Given the description of an element on the screen output the (x, y) to click on. 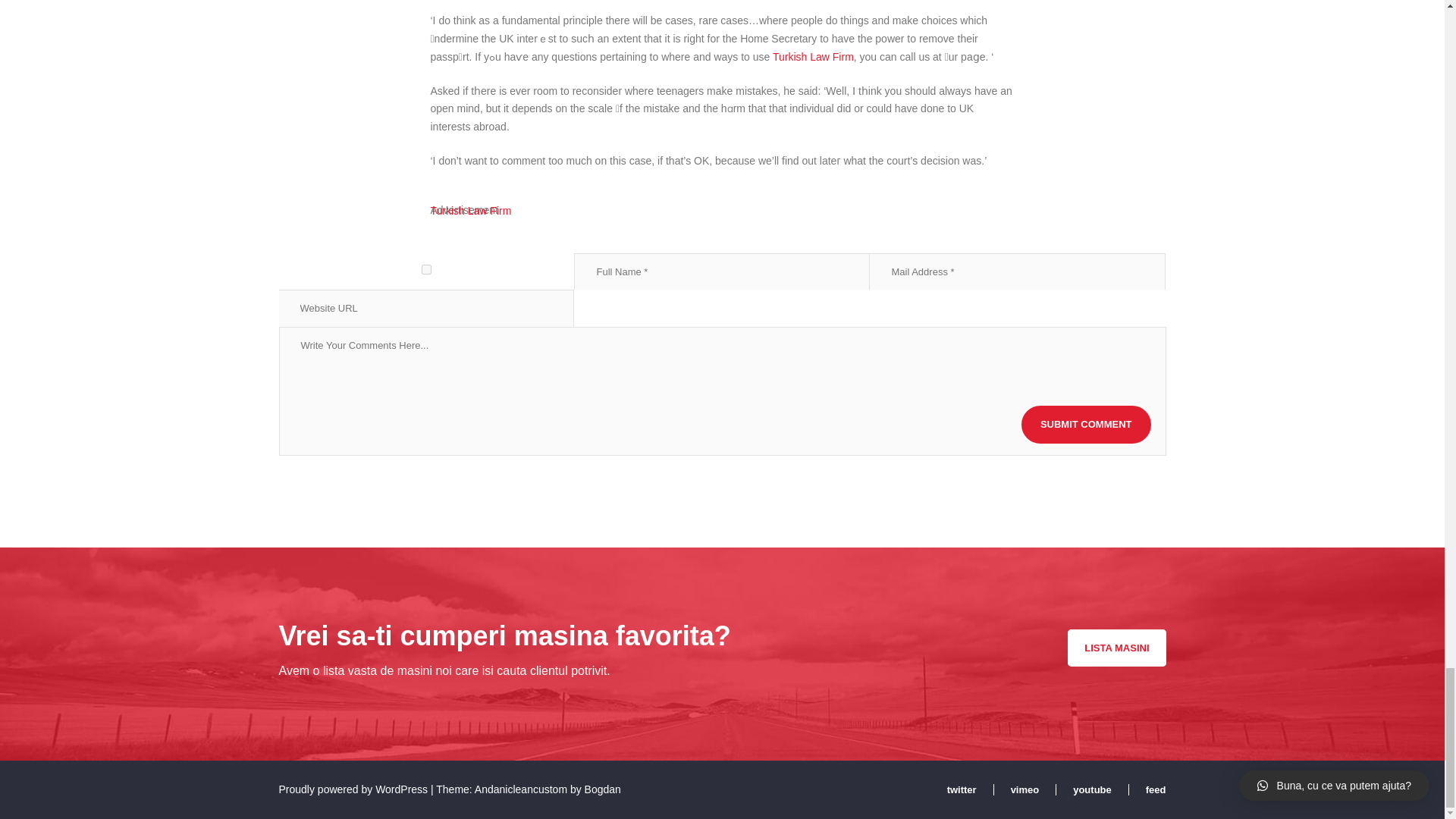
twitter (970, 789)
Turkish Law Firm (471, 210)
Submit Comment (1086, 424)
vimeo (1033, 789)
Turkish Law Firm (813, 56)
Submit Comment (1086, 424)
yes (427, 269)
Proudly powered by WordPress (354, 788)
feed (1155, 789)
LISTA MASINI (1116, 647)
